Given the description of an element on the screen output the (x, y) to click on. 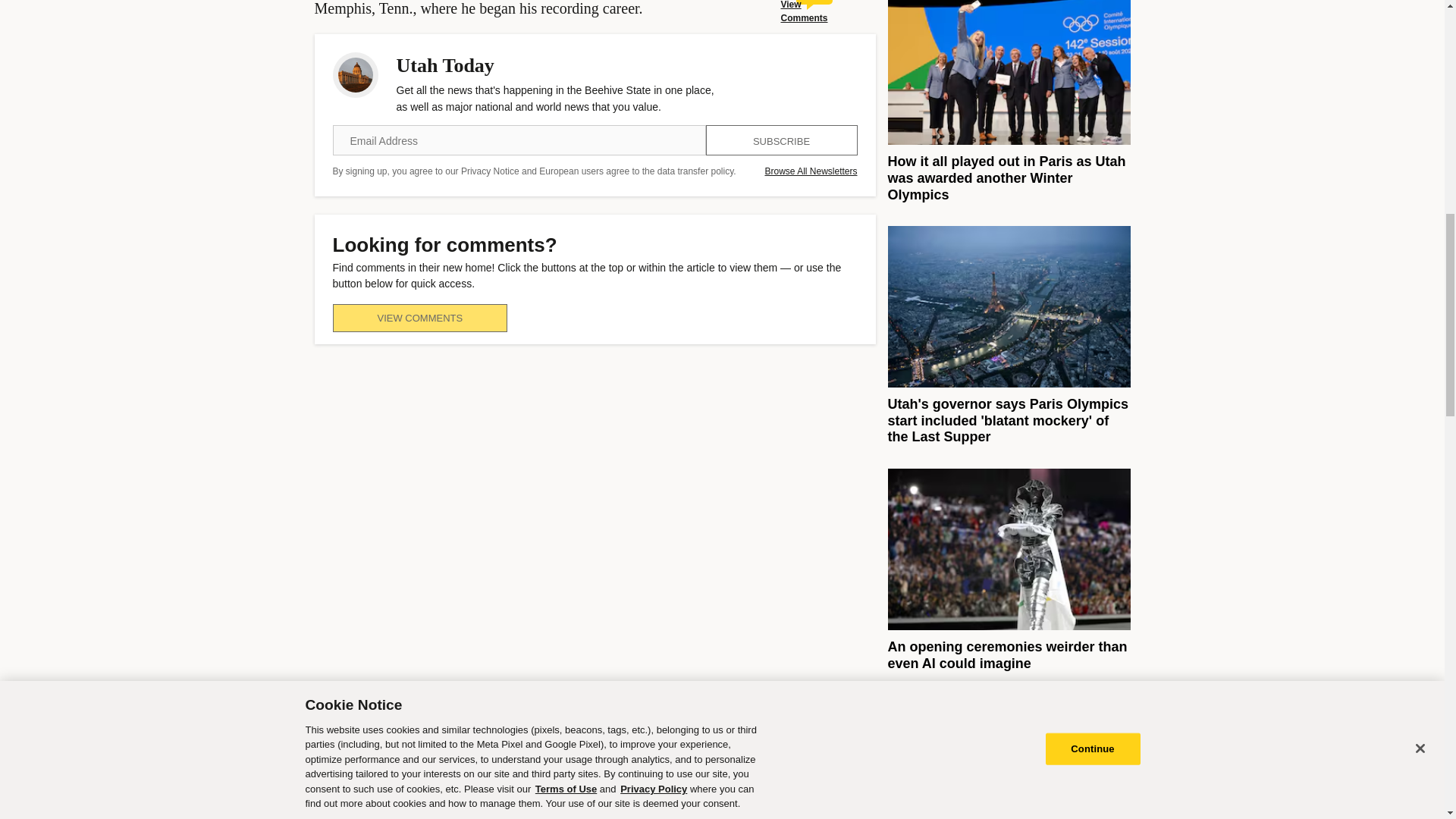
SUBSCRIBE (780, 140)
VIEW COMMENTS (418, 317)
An opening ceremonies weirder than even AI could imagine (1006, 654)
Browse All Newsletters (810, 171)
